Given the description of an element on the screen output the (x, y) to click on. 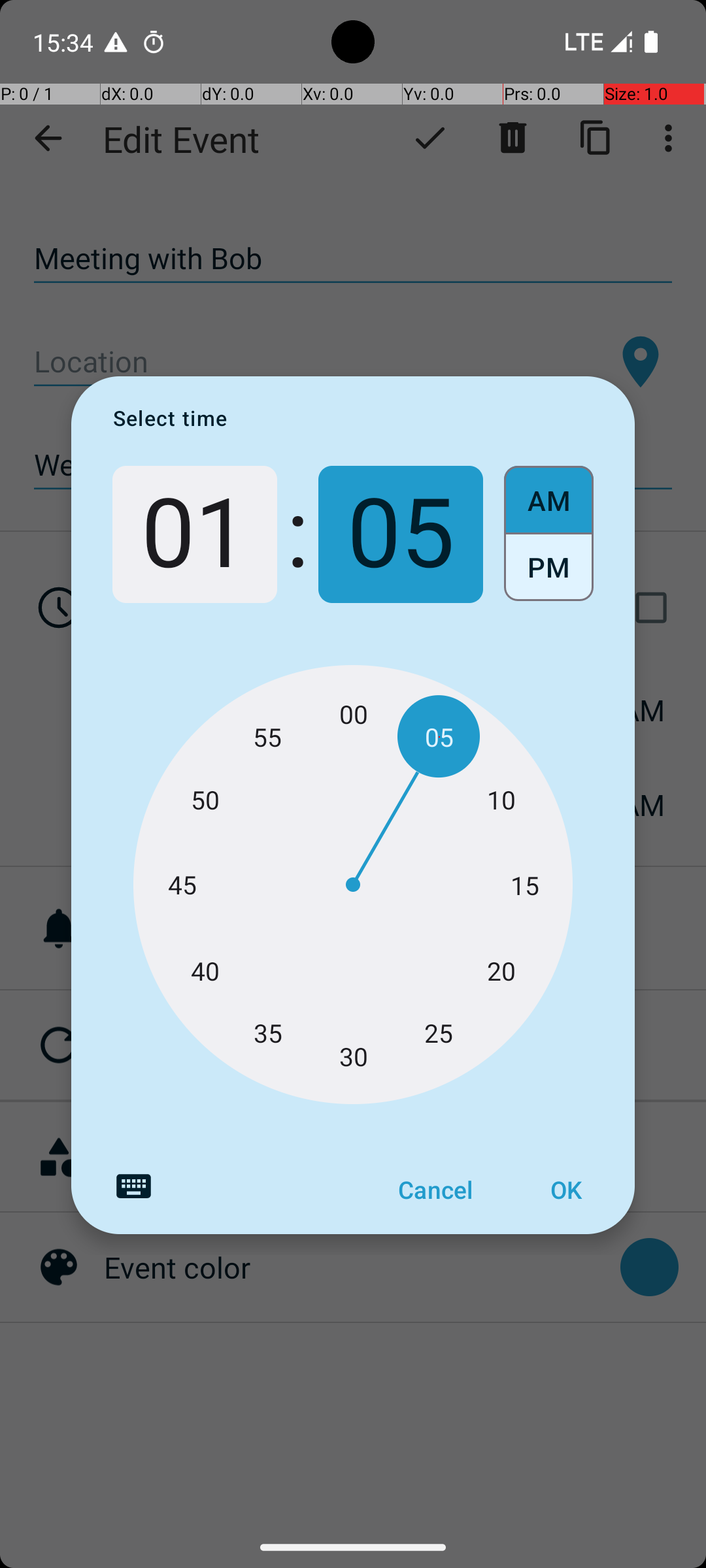
01 Element type: android.view.View (194, 534)
Select AM or PM Element type: android.widget.LinearLayout (548, 534)
